Given the description of an element on the screen output the (x, y) to click on. 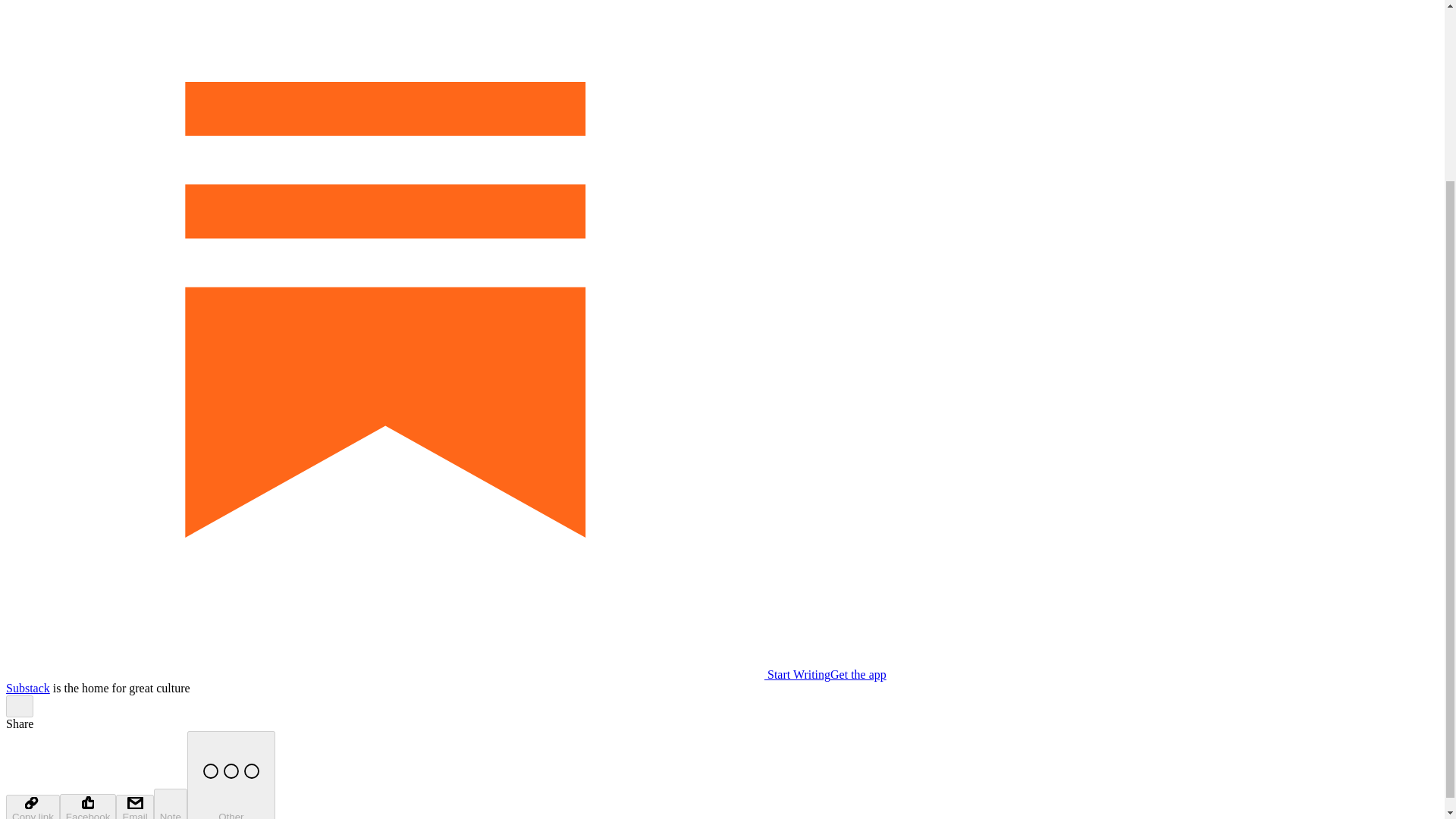
Substack (27, 687)
Get the app (857, 674)
Start Writing (417, 674)
